Given the description of an element on the screen output the (x, y) to click on. 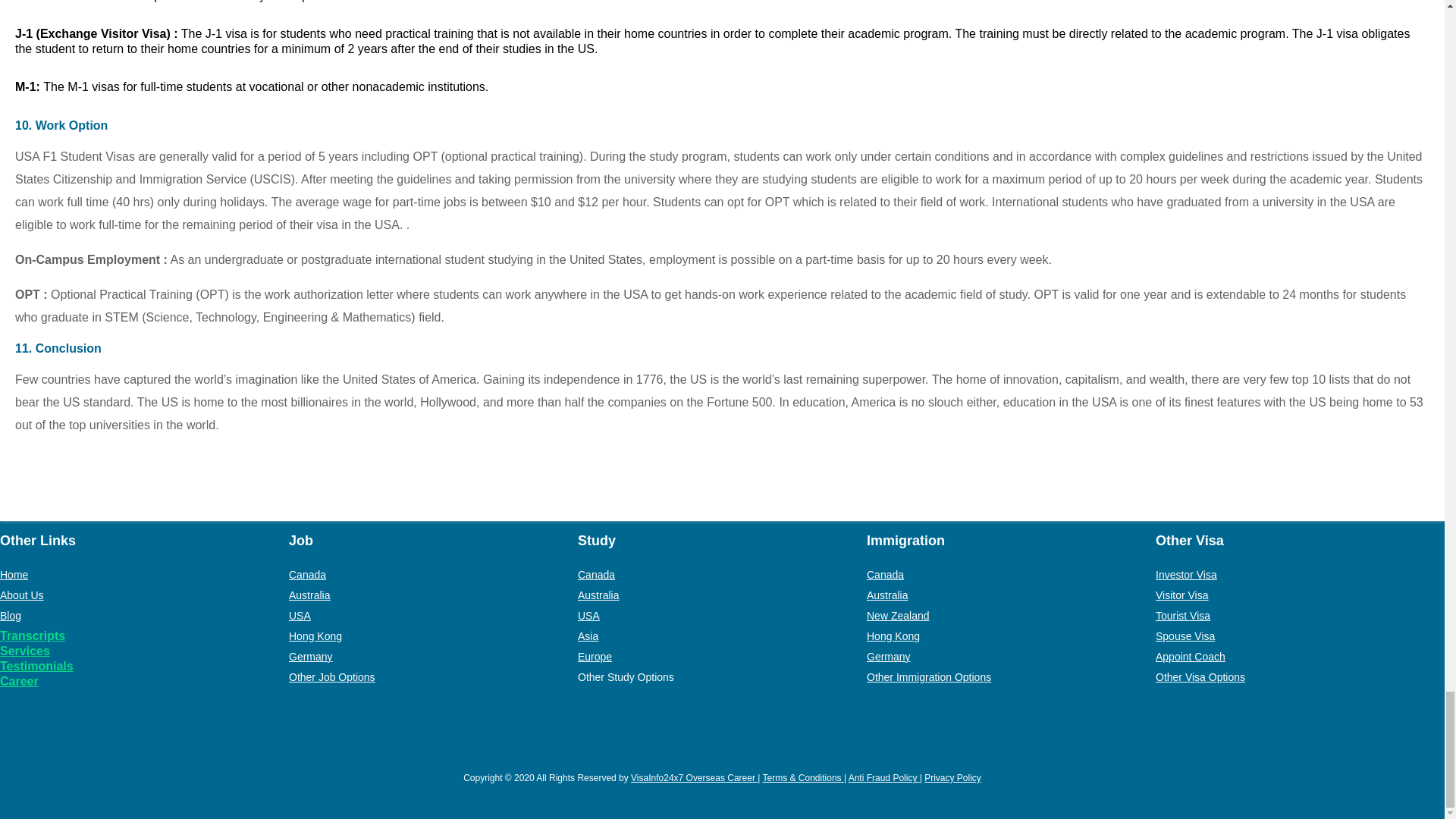
Home (13, 574)
About Us (21, 594)
Transcripts (37, 635)
Blog (10, 615)
